Given the description of an element on the screen output the (x, y) to click on. 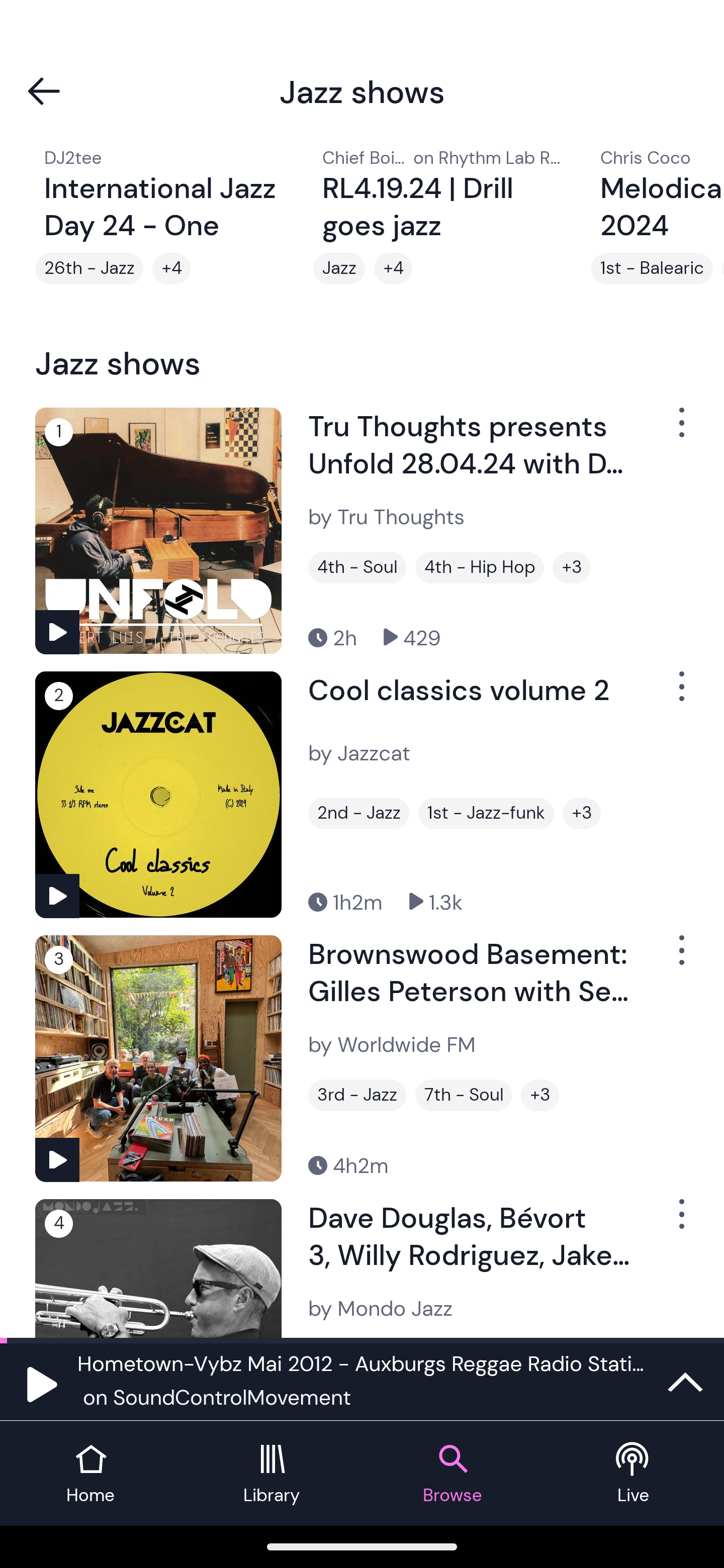
26th - Jazz (89, 267)
Jazz (338, 267)
1st - Balearic (652, 267)
Show Options Menu Button (679, 430)
4th - Soul (357, 567)
4th - Hip Hop (479, 567)
Show Options Menu Button (679, 693)
2nd - Jazz (358, 813)
1st - Jazz-funk (485, 813)
Show Options Menu Button (679, 957)
3rd - Jazz (357, 1094)
7th - Soul (463, 1094)
Show Options Menu Button (679, 1221)
Home tab Home (90, 1473)
Library tab Library (271, 1473)
Browse tab Browse (452, 1473)
Live tab Live (633, 1473)
